Given the description of an element on the screen output the (x, y) to click on. 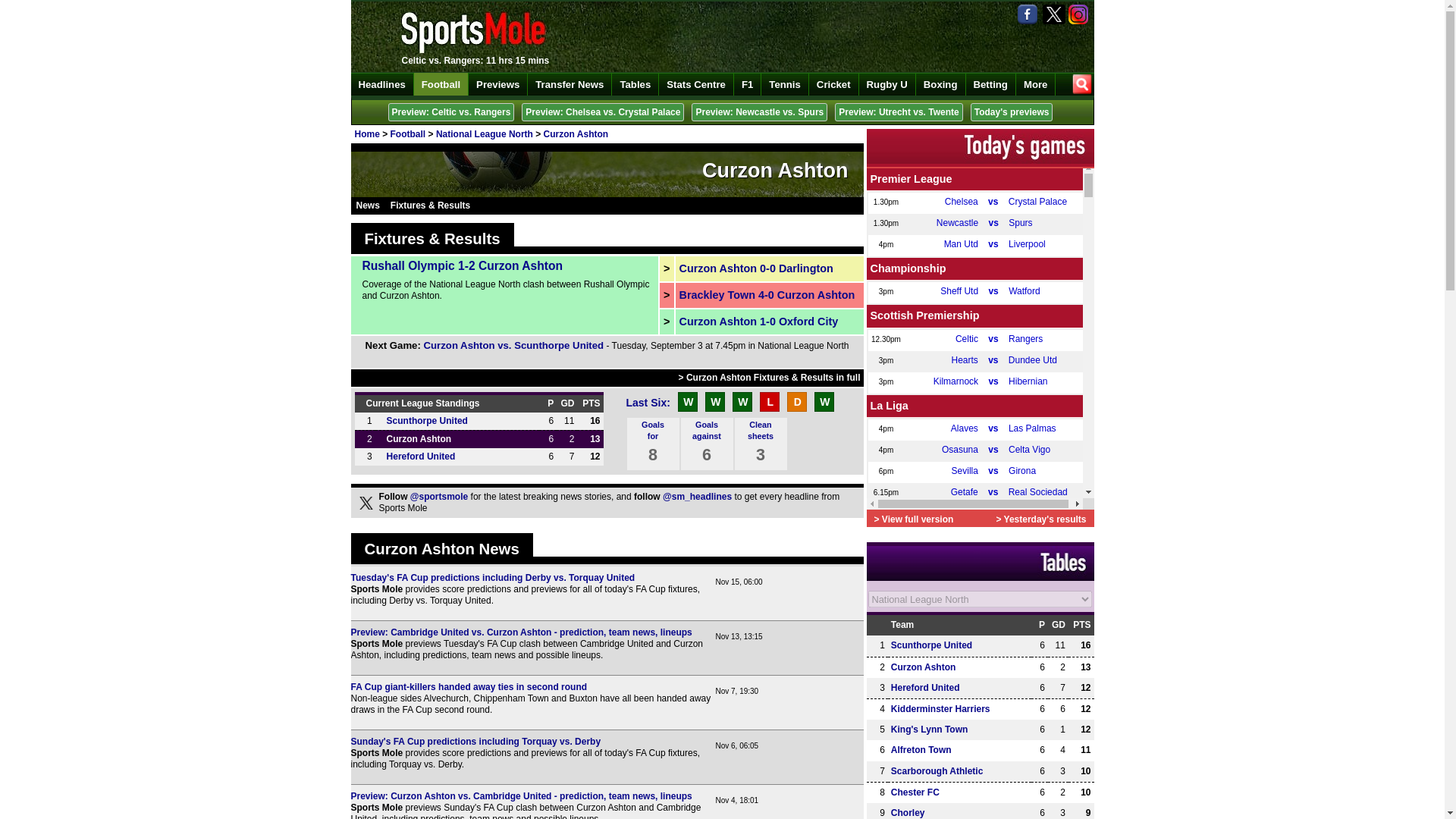
Facebook (1029, 14)
Cricket (834, 83)
Rugby U (887, 83)
Today's previews (1011, 112)
Previews (497, 83)
Betting (991, 83)
Stats Centre (696, 83)
Preview: Utrecht vs. Twente (898, 112)
Twitter (1053, 14)
Tennis (785, 83)
